Given the description of an element on the screen output the (x, y) to click on. 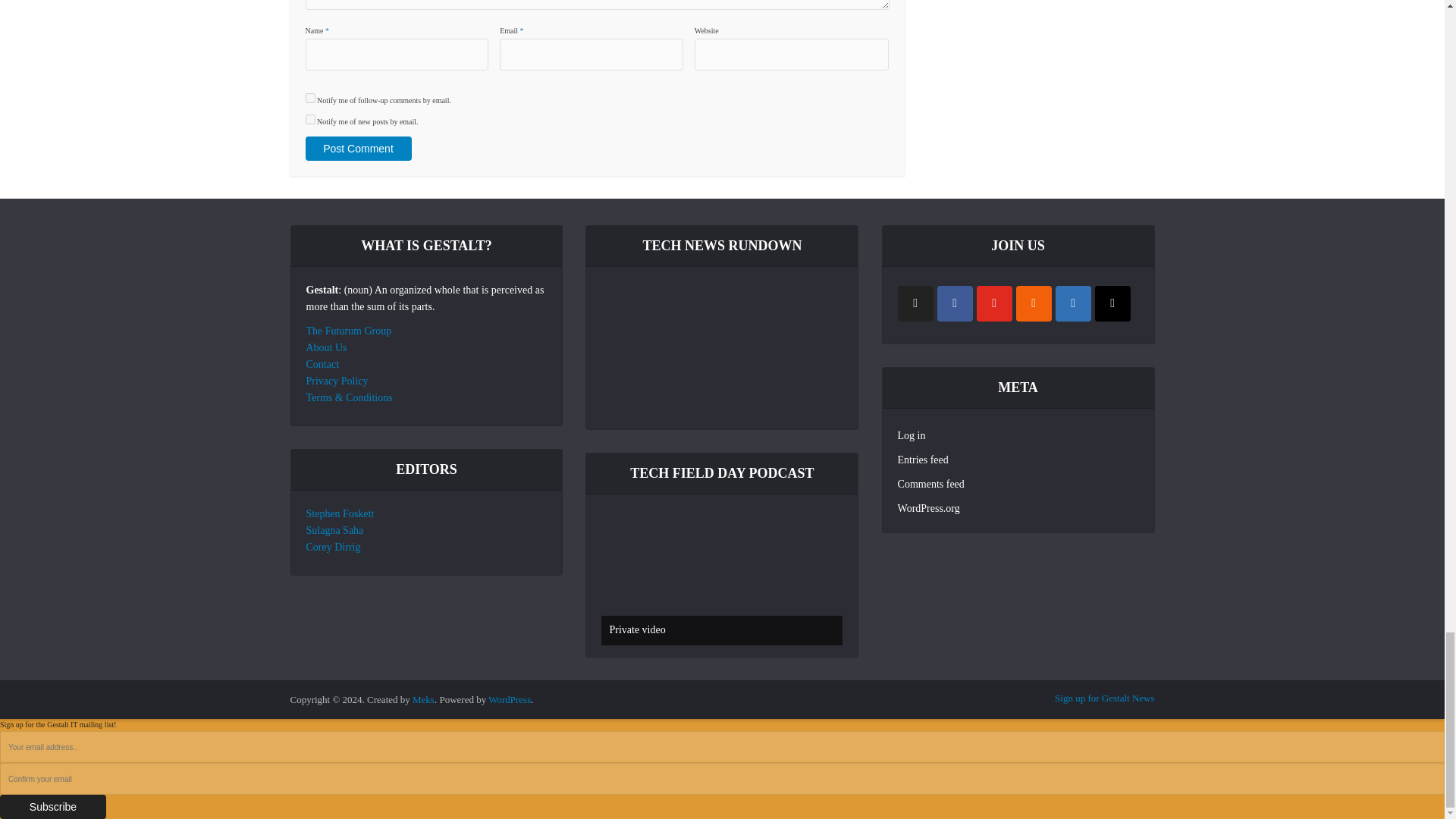
Mail (1112, 303)
Private video (722, 577)
RSS (1033, 303)
Linkedin (1072, 303)
subscribe (309, 98)
subscribe (309, 119)
YouTube (993, 303)
Post Comment (357, 148)
Facebook (954, 303)
